Given the description of an element on the screen output the (x, y) to click on. 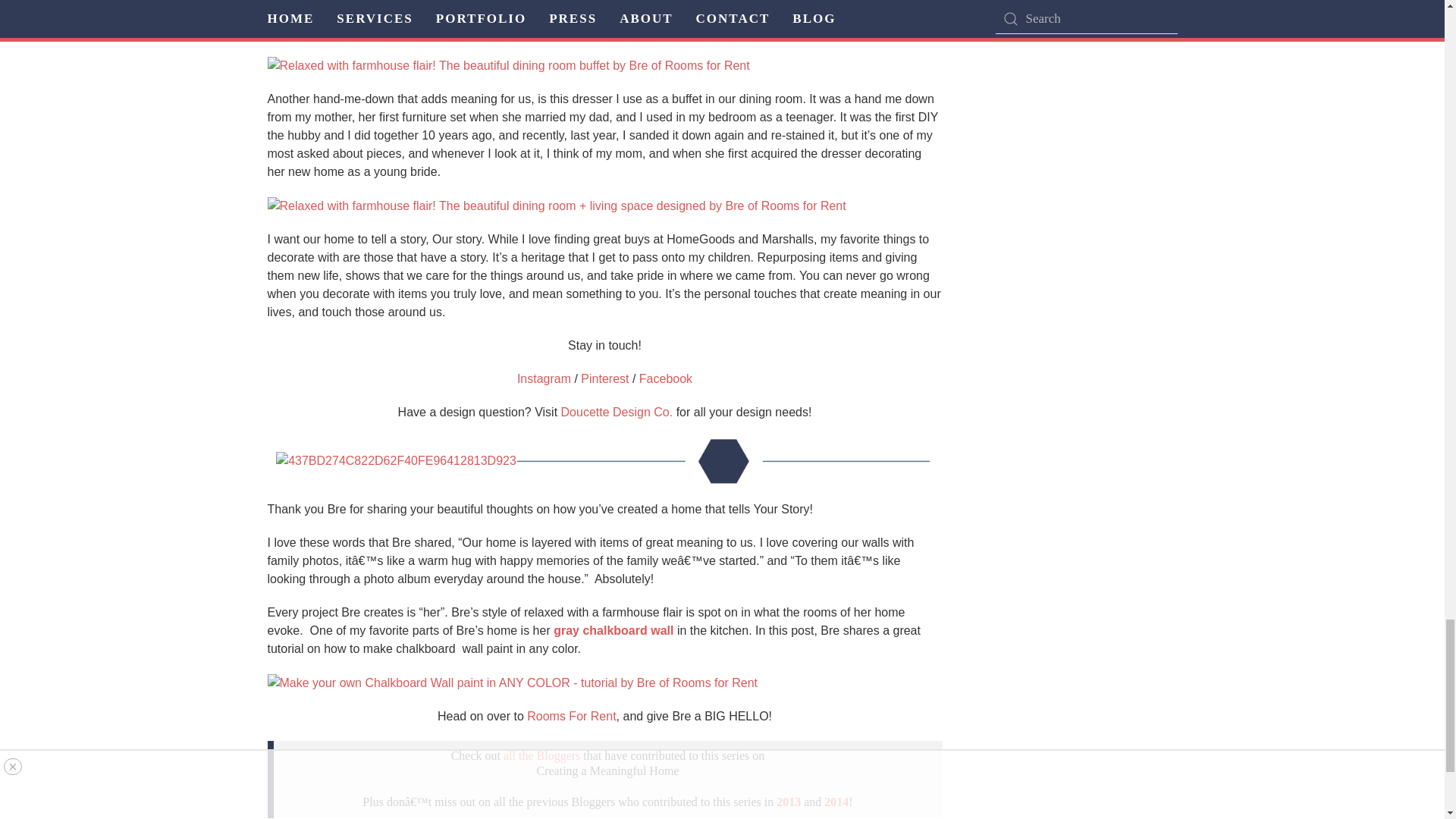
Facebook (666, 378)
Doucette Design Co. (616, 411)
Instagram (543, 378)
all the Bloggers (541, 755)
Rooms For Rent (571, 716)
Pinterest (604, 378)
gray chalkboard wall (612, 630)
